Given the description of an element on the screen output the (x, y) to click on. 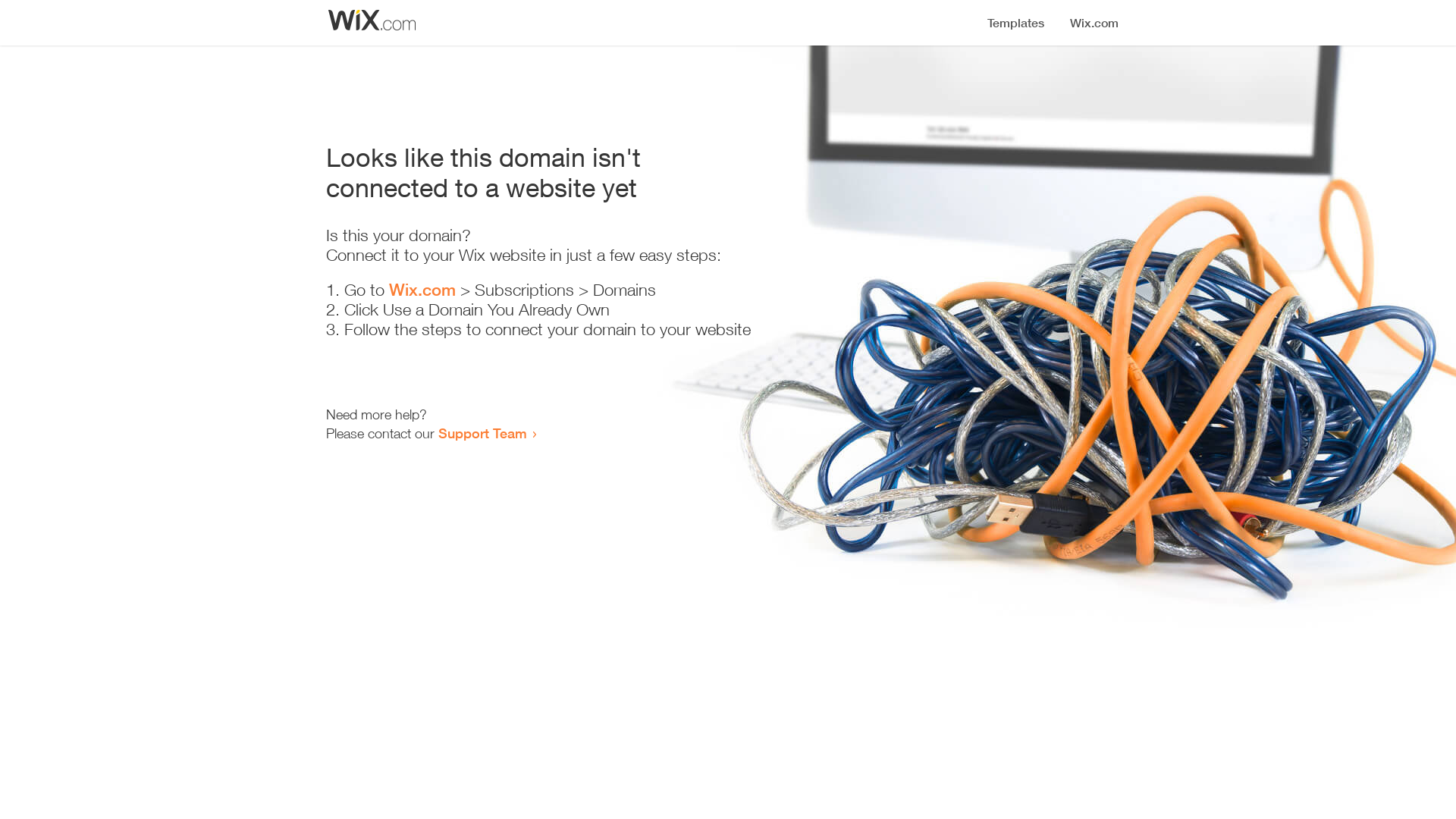
Support Team Element type: text (482, 432)
Wix.com Element type: text (422, 289)
